Given the description of an element on the screen output the (x, y) to click on. 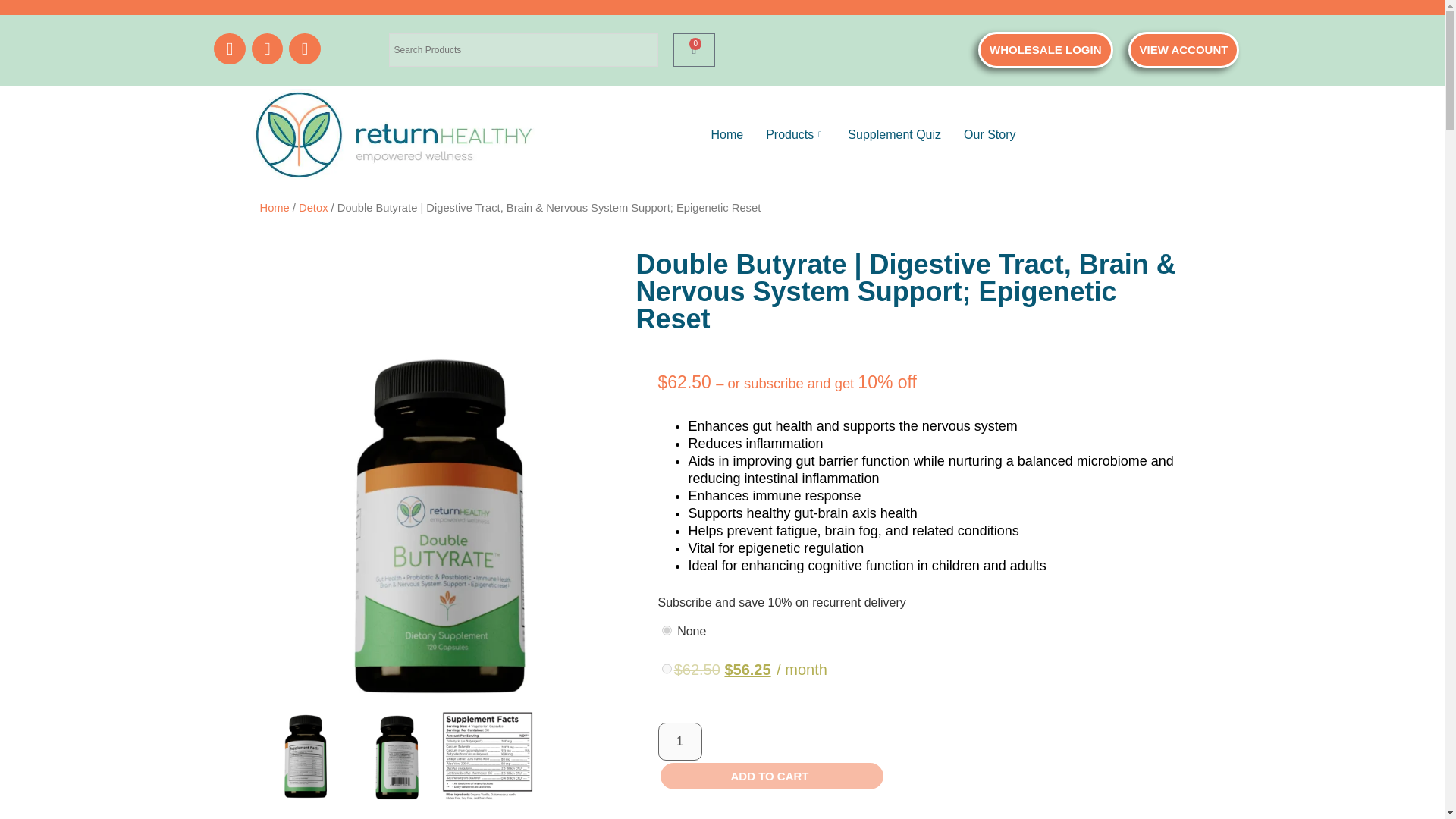
VIEW ACCOUNT (1184, 49)
Double Butyrate Label (486, 757)
Double Butyrate Right (304, 757)
WHOLESALE LOGIN (1045, 49)
Double Butyrate Left (395, 757)
Double Butyrate Front (441, 529)
0 (694, 49)
1 (679, 741)
Products (794, 134)
Home (726, 134)
